Given the description of an element on the screen output the (x, y) to click on. 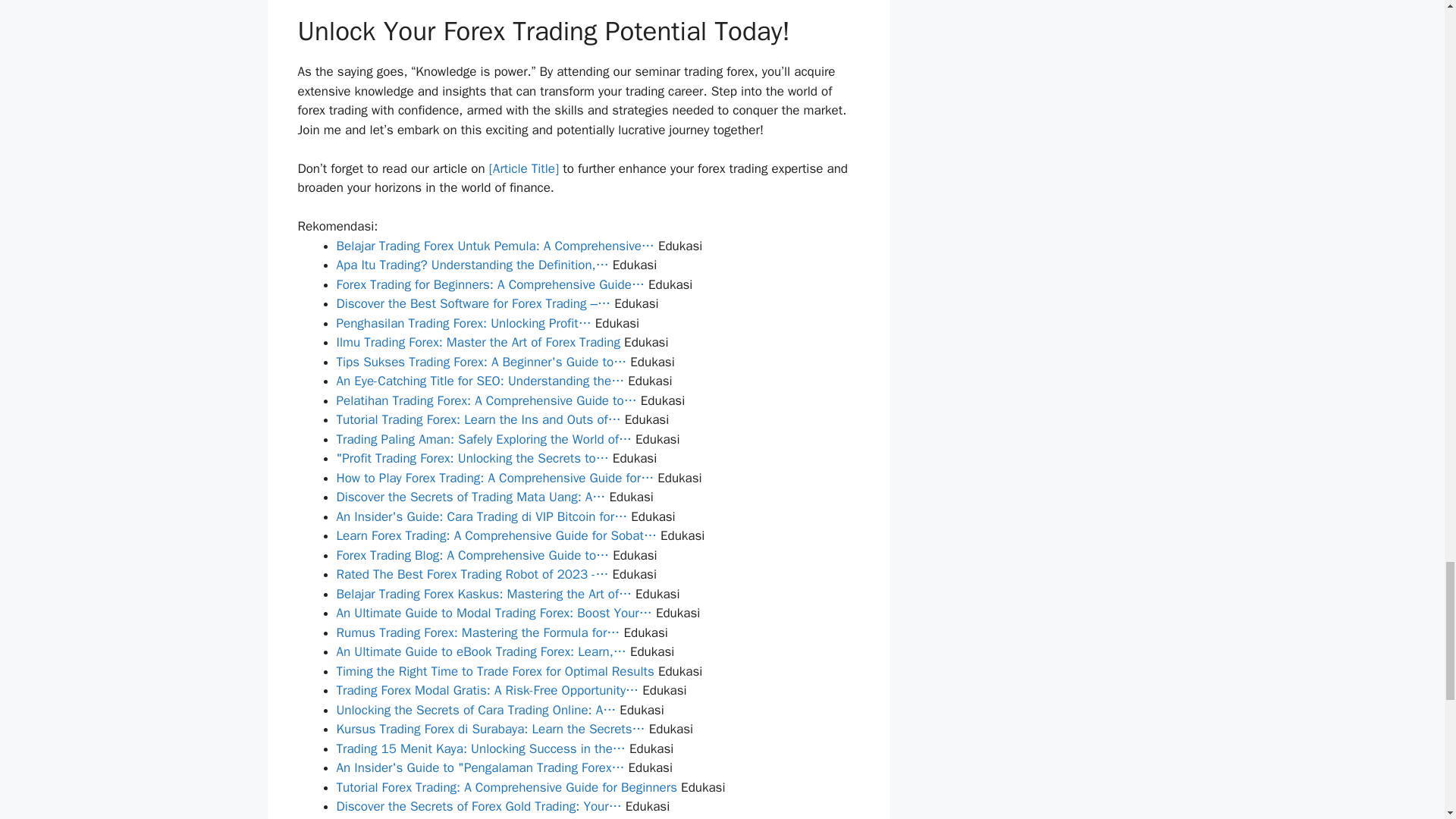
Ilmu Trading Forex: Master the Art of Forex Trading (478, 342)
